Given the description of an element on the screen output the (x, y) to click on. 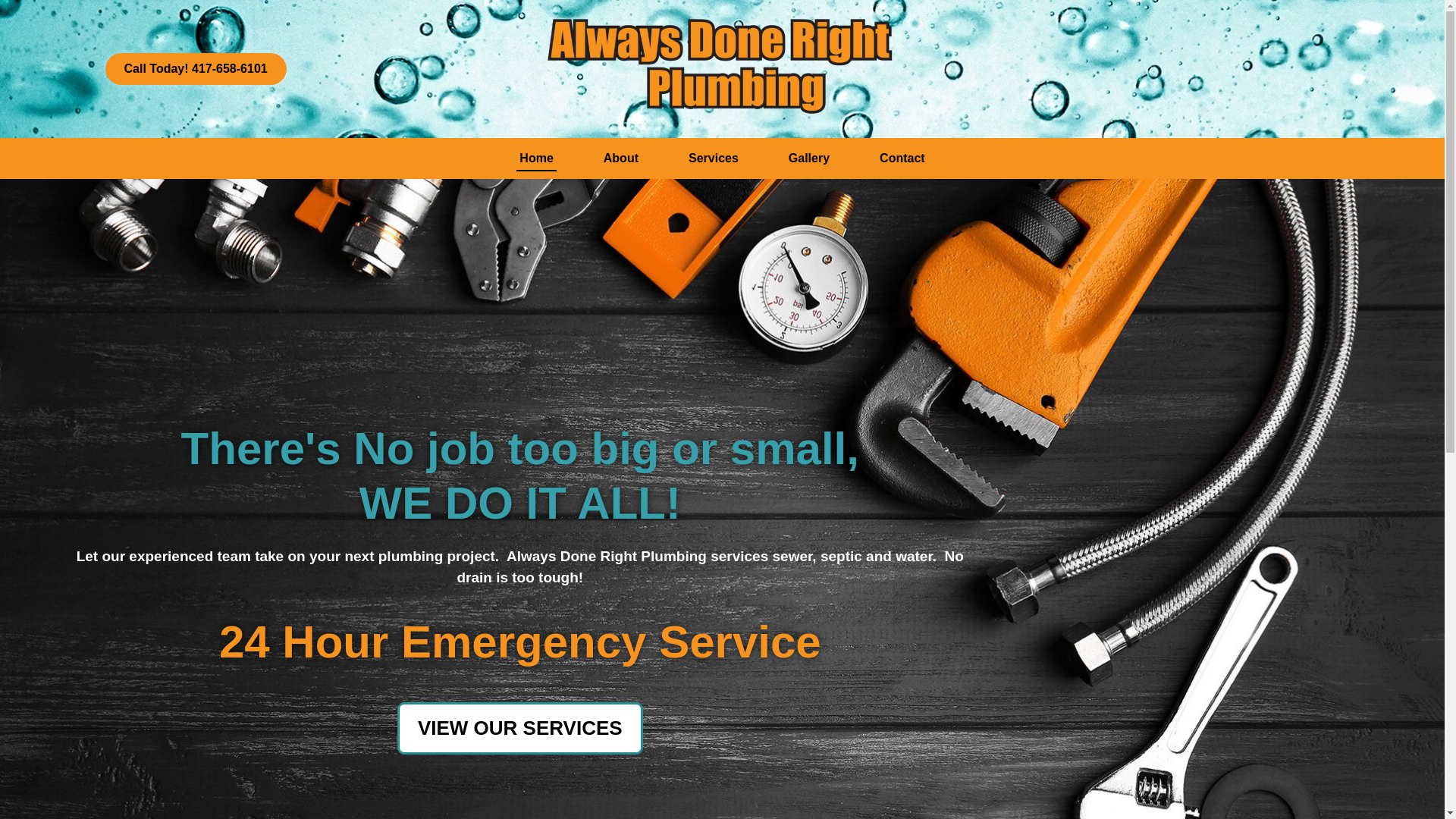
VIEW OUR SERVICES (520, 727)
Services (713, 158)
About (620, 158)
Home (536, 158)
Call Today! 417-658-6101 (195, 69)
Gallery (809, 158)
Contact (902, 158)
